Given the description of an element on the screen output the (x, y) to click on. 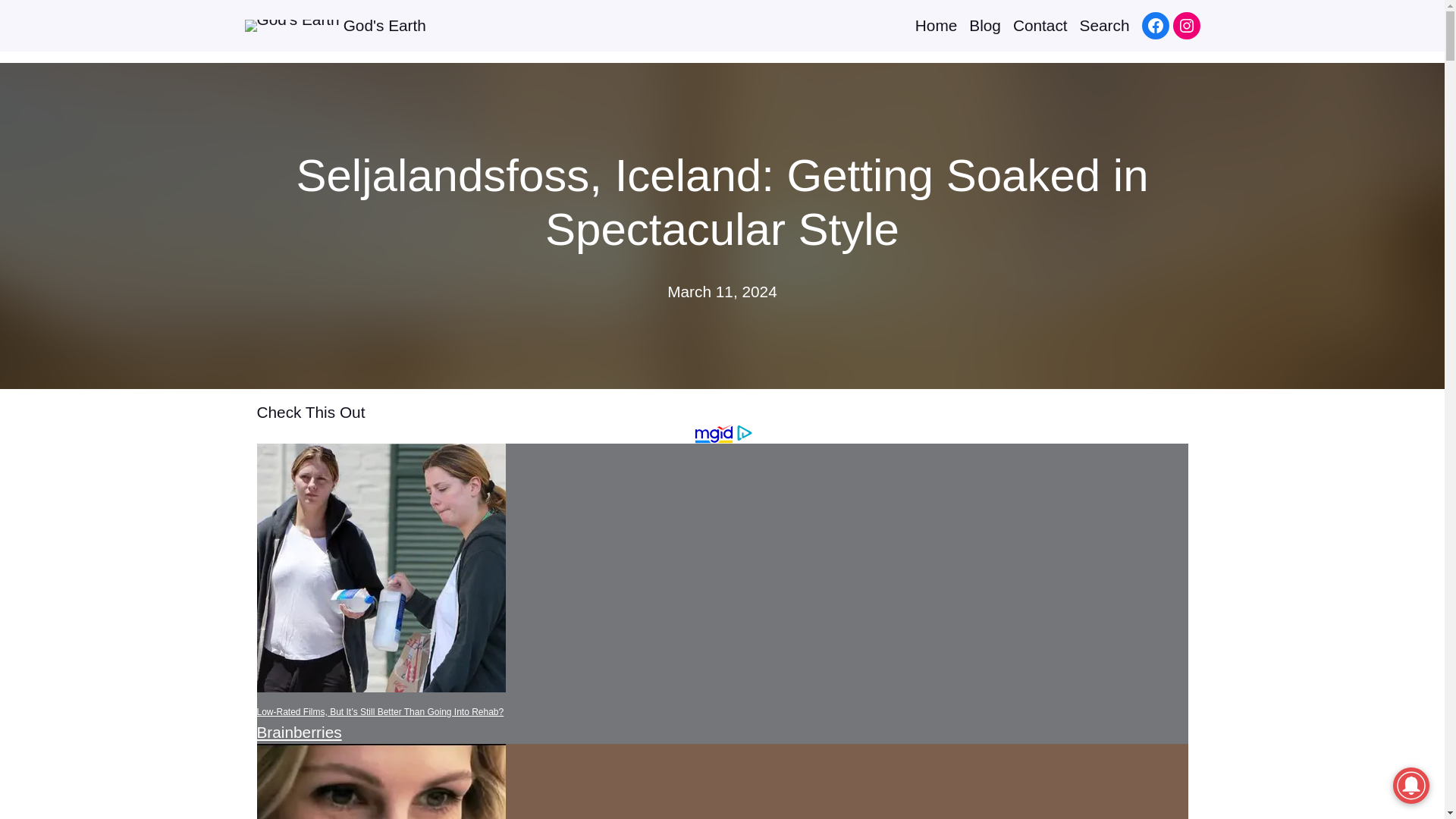
Contact (1040, 25)
God's Earth (384, 25)
Instagram (1185, 25)
Facebook (1155, 25)
Search (1104, 25)
Blog (985, 25)
Home (935, 25)
